Given the description of an element on the screen output the (x, y) to click on. 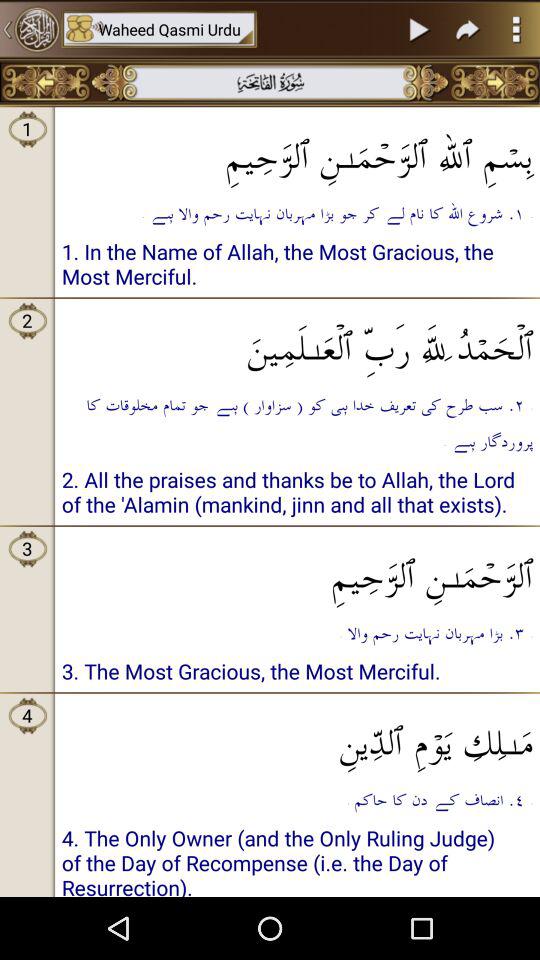
go back (30, 29)
